Given the description of an element on the screen output the (x, y) to click on. 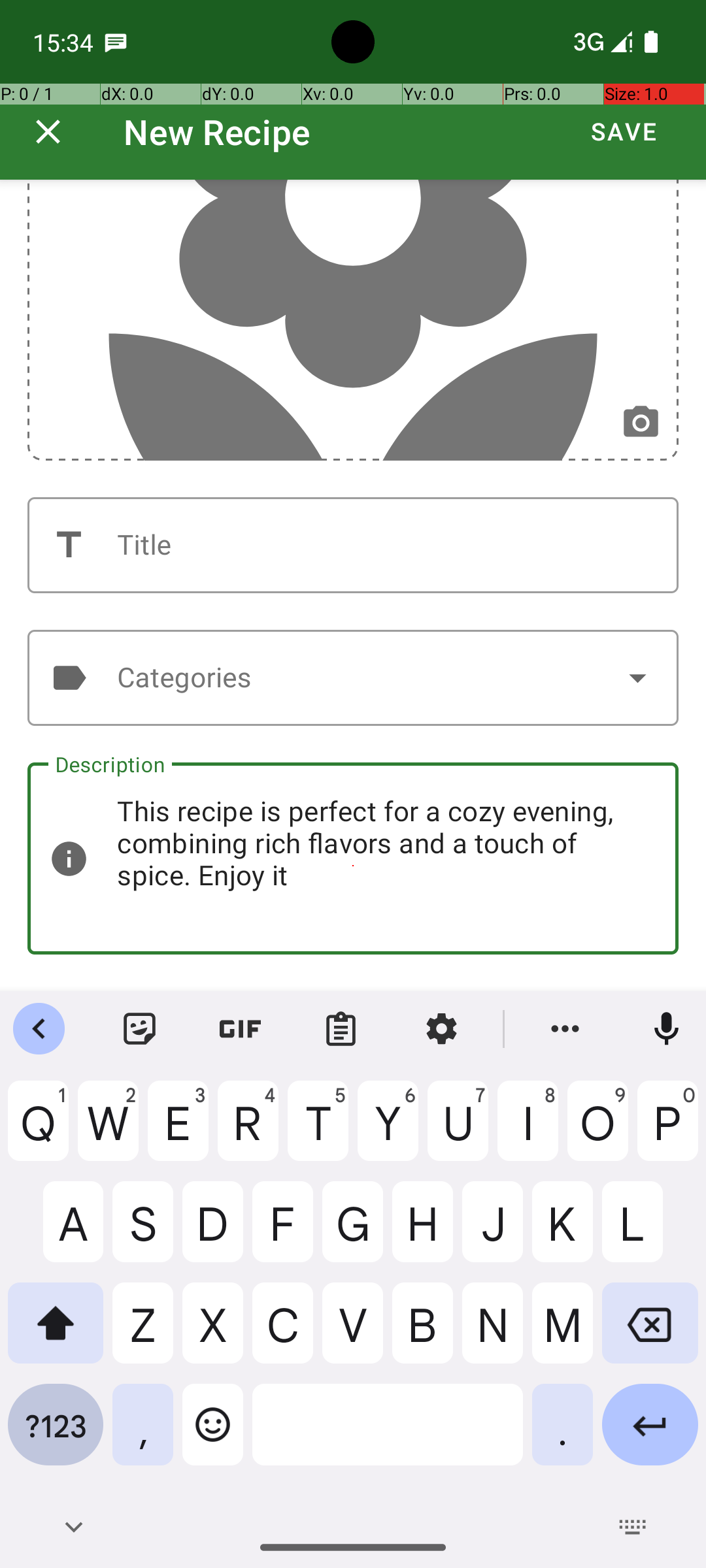
Change photo Element type: android.widget.ImageView (640, 422)
Title Element type: android.widget.EditText (352, 545)
This recipe is perfect for a cozy evening, combining rich flavors and a touch of spice. Enjoy it
 Element type: android.widget.EditText (352, 858)
